Given the description of an element on the screen output the (x, y) to click on. 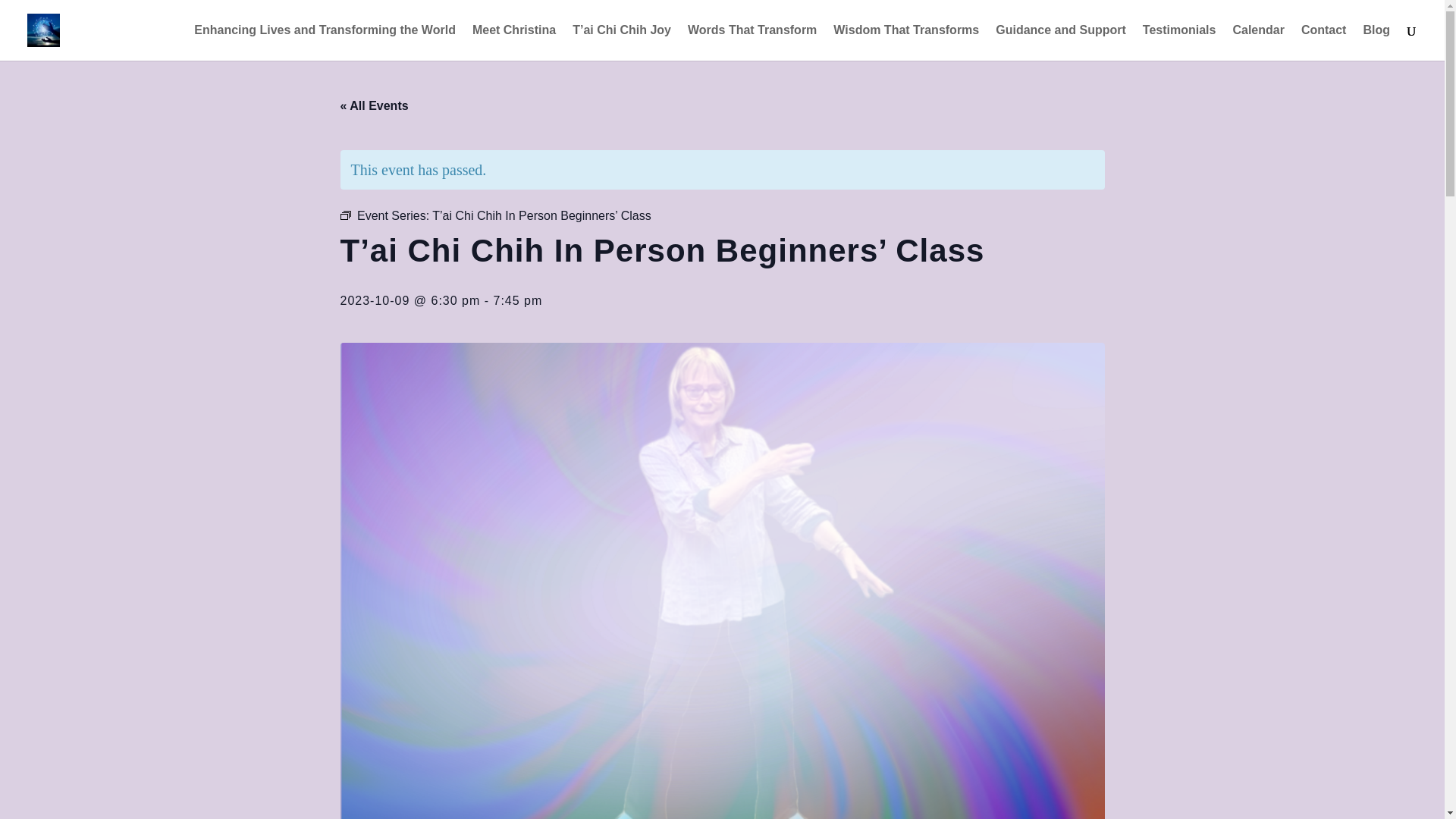
Contact (1323, 42)
Event Series (344, 215)
Enhancing Lives and Transforming the World (324, 42)
Words That Transform (751, 42)
Meet Christina (513, 42)
Wisdom That Transforms (905, 42)
Calendar (1257, 42)
Guidance and Support (1060, 42)
Testimonials (1178, 42)
